Given the description of an element on the screen output the (x, y) to click on. 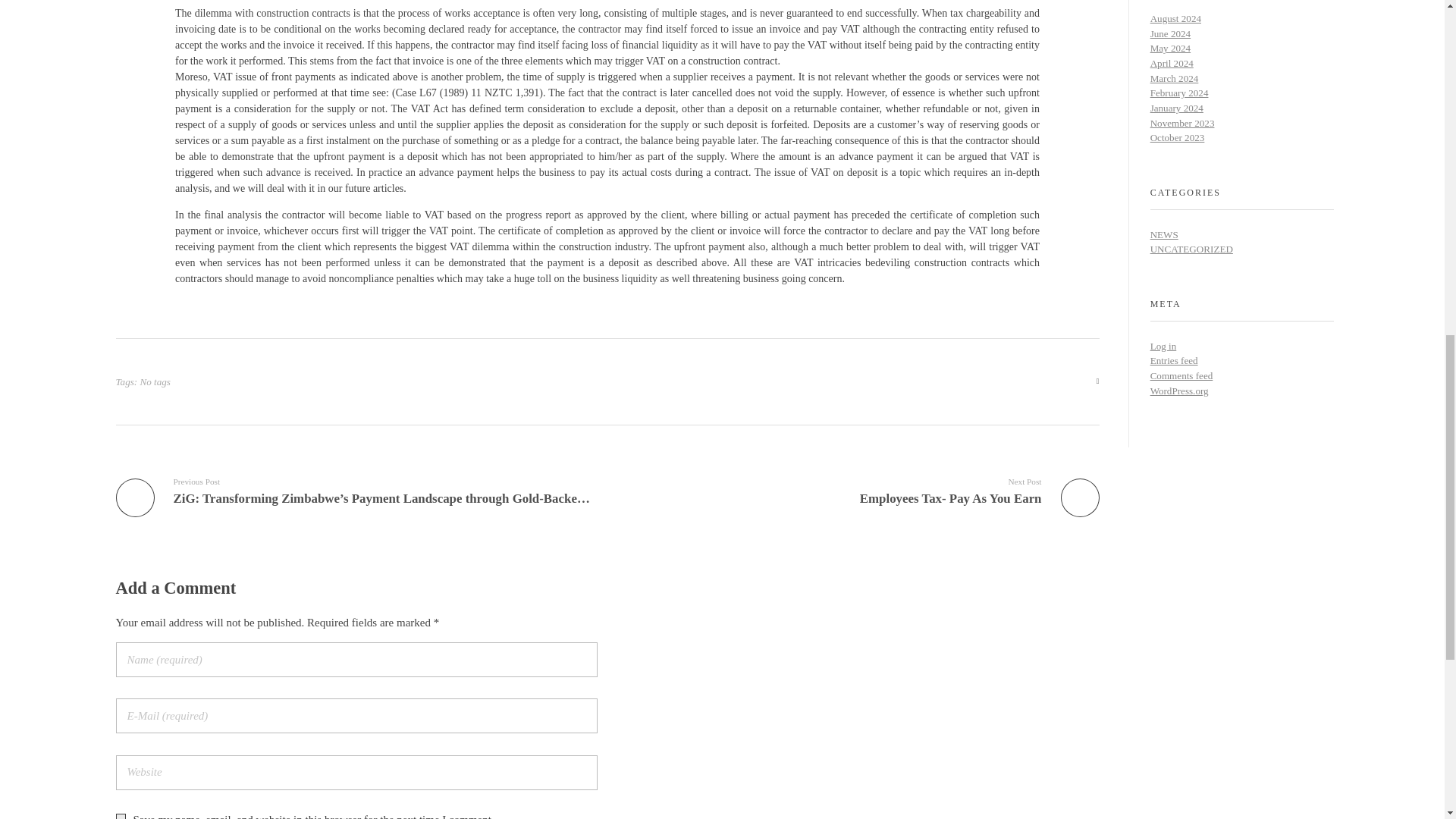
February 2024 (1179, 92)
May 2024 (1170, 48)
October 2023 (1177, 137)
November 2023 (1182, 122)
April 2024 (1171, 62)
NEWS (1163, 234)
yes (120, 816)
August 2024 (1175, 18)
March 2024 (1174, 78)
January 2024 (1177, 107)
